Given the description of an element on the screen output the (x, y) to click on. 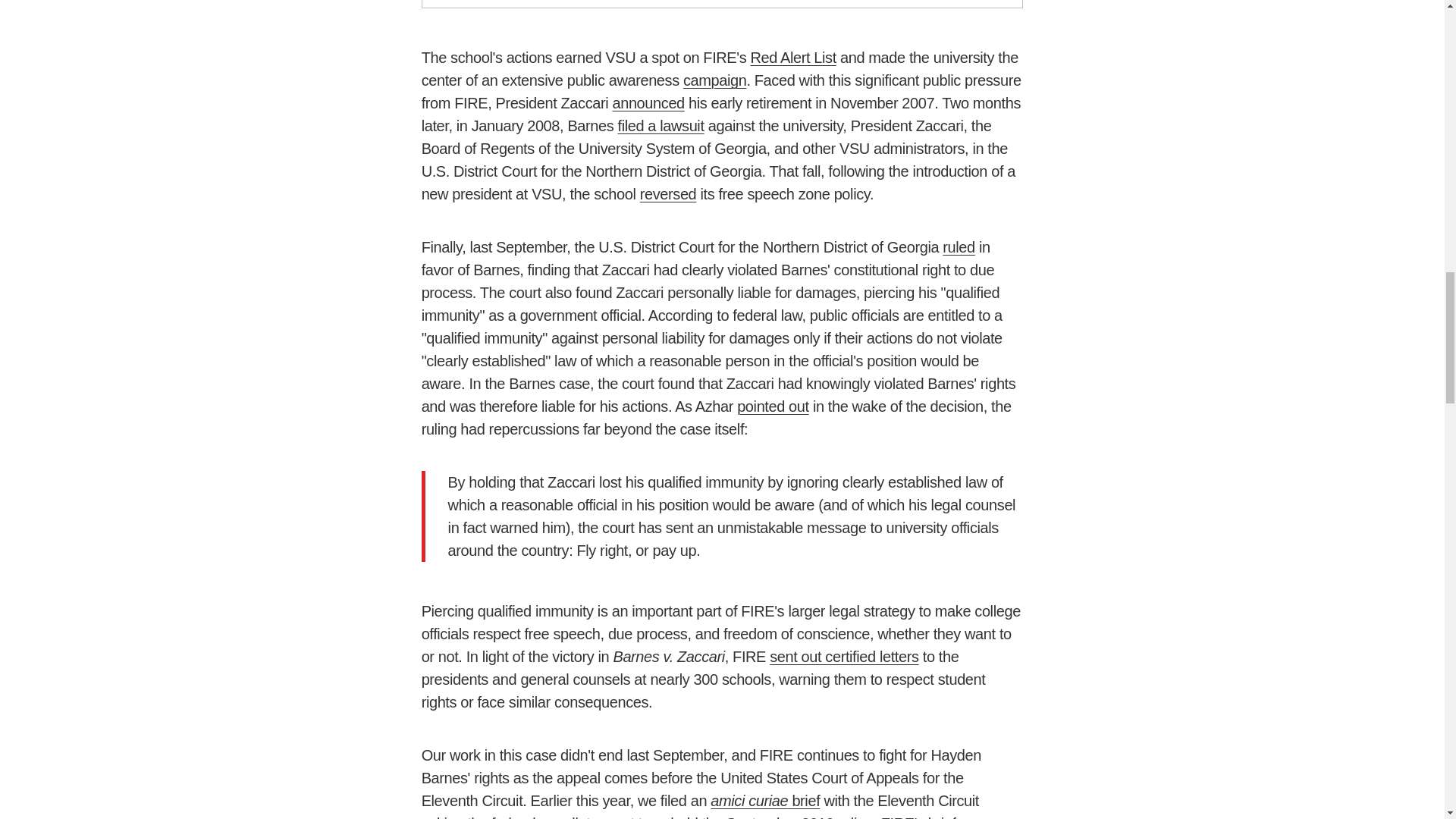
Red Alert List (792, 57)
filed a lawsuit (660, 125)
sent out certified letters (844, 656)
announced (647, 103)
reversed (668, 193)
pointed out (772, 406)
ruled (958, 247)
campaign (714, 80)
